Given the description of an element on the screen output the (x, y) to click on. 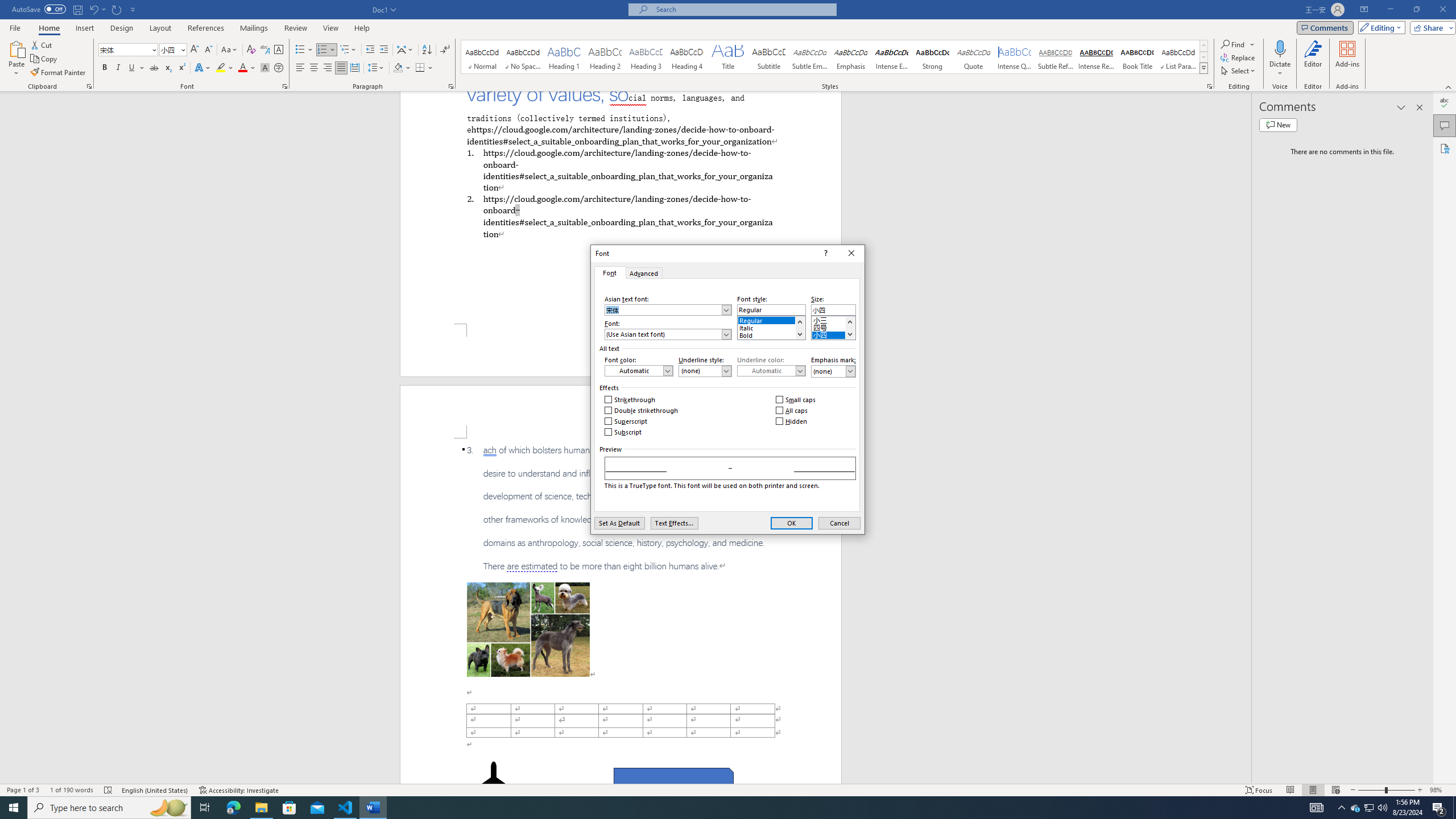
Language English (United States) (154, 790)
Font (128, 49)
Format Painter (58, 72)
New comment (1278, 124)
File Explorer - 1 running window (261, 807)
Set As Default (619, 522)
Borders (419, 67)
Collapse the Ribbon (1448, 86)
Airplane with solid fill (493, 783)
Notification Chevron (1341, 807)
Hidden (792, 420)
Bold (771, 333)
Design (122, 28)
Shading RGB(0, 0, 0) (397, 67)
